Given the description of an element on the screen output the (x, y) to click on. 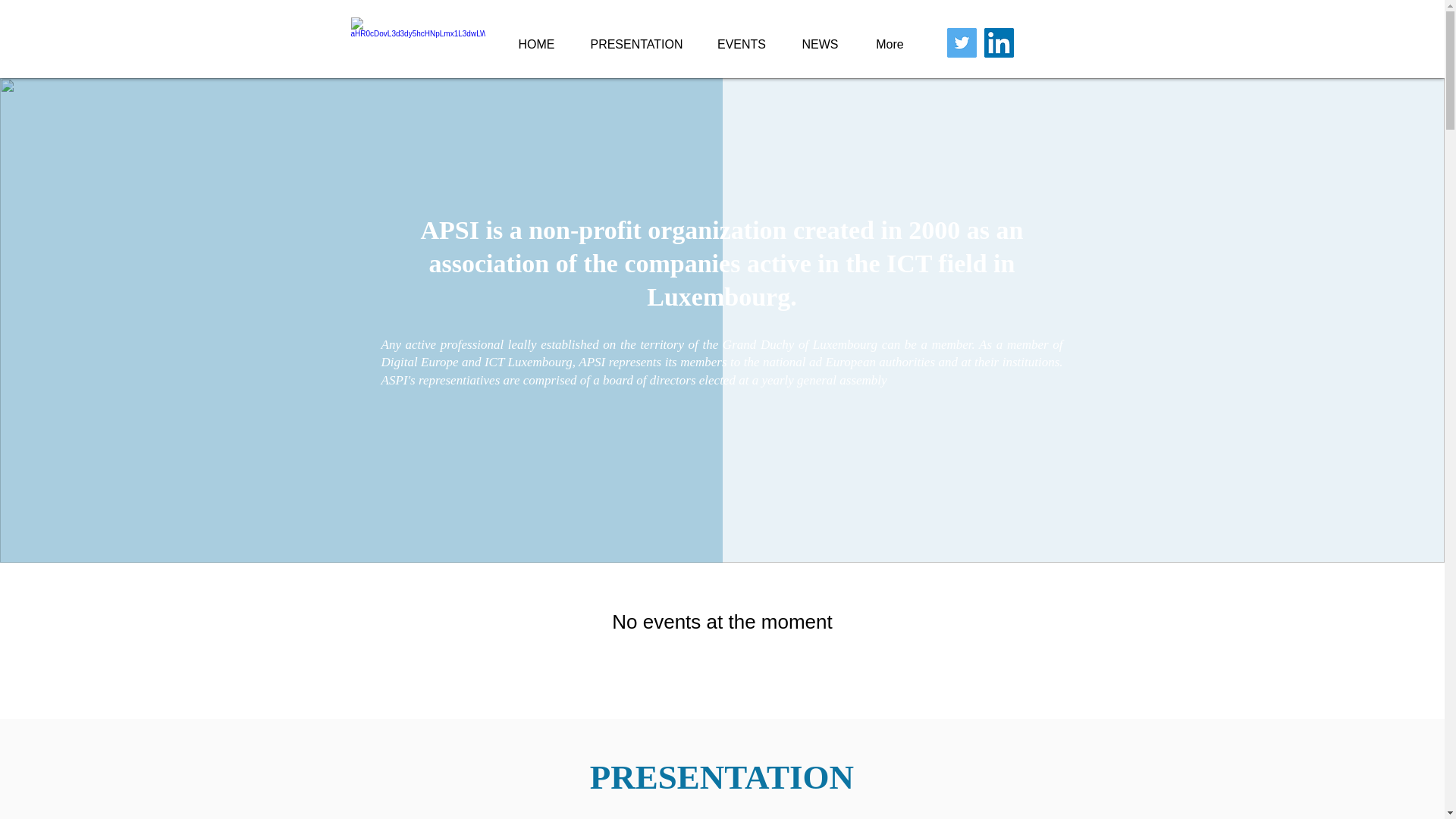
EVENTS (740, 44)
NEWS (820, 44)
PRESENTATION (635, 44)
HOME (536, 44)
